Given the description of an element on the screen output the (x, y) to click on. 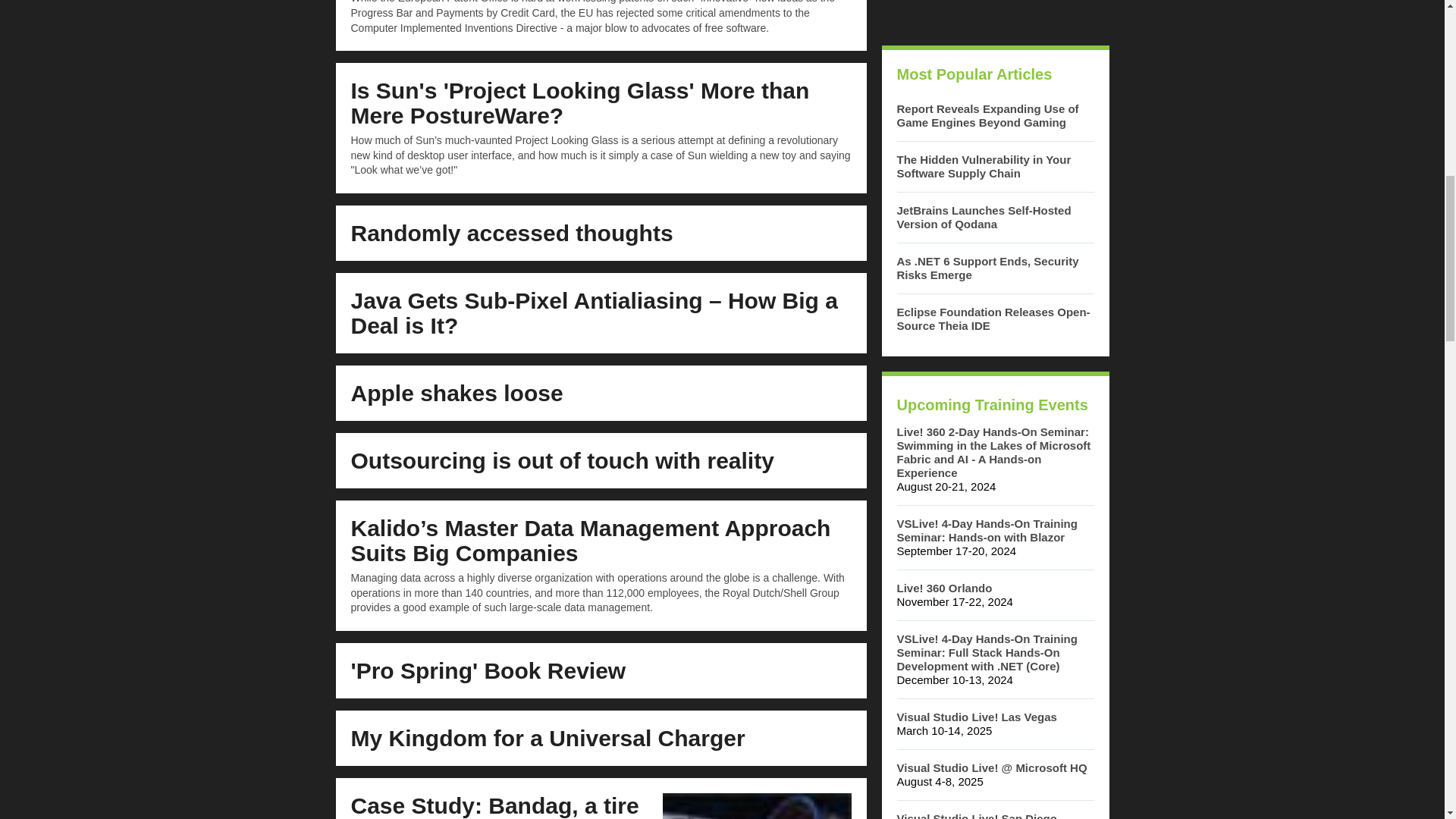
Apple shakes loose (456, 392)
Outsourcing is out of touch with reality (561, 460)
Is Sun's 'Project Looking Glass' More than Mere PostureWare? (579, 102)
3rd party ad content (994, 15)
Randomly accessed thoughts (511, 232)
My Kingdom for a Universal Charger (547, 738)
'Pro Spring' Book Review (488, 670)
